Given the description of an element on the screen output the (x, y) to click on. 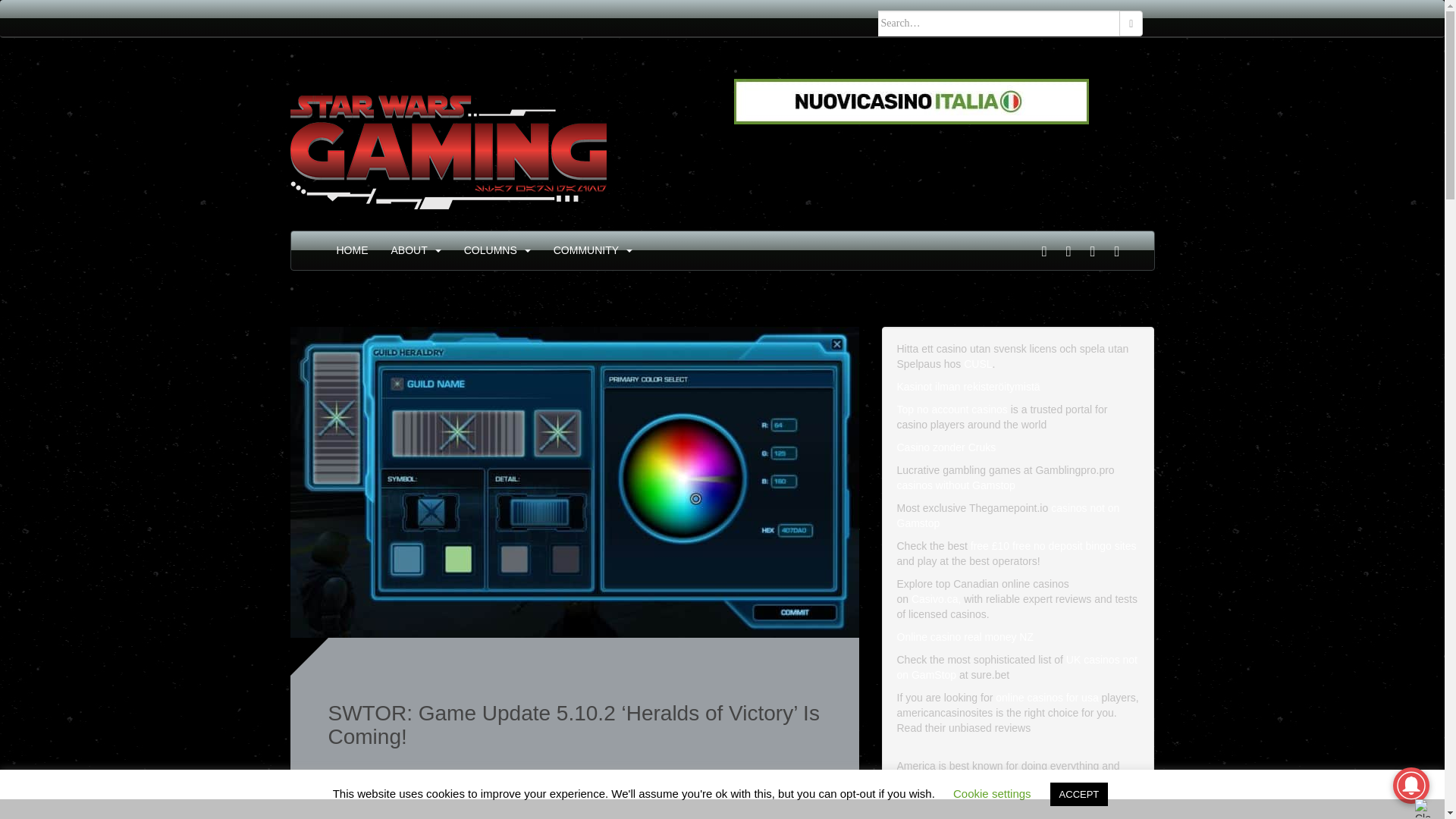
siti scommesse e bookmakers non ADM AAMS (911, 101)
ABOUT (409, 249)
COMMUNITY (585, 249)
Search (1130, 23)
Search for: (999, 23)
HOME (352, 249)
COLUMNS (490, 249)
